Given the description of an element on the screen output the (x, y) to click on. 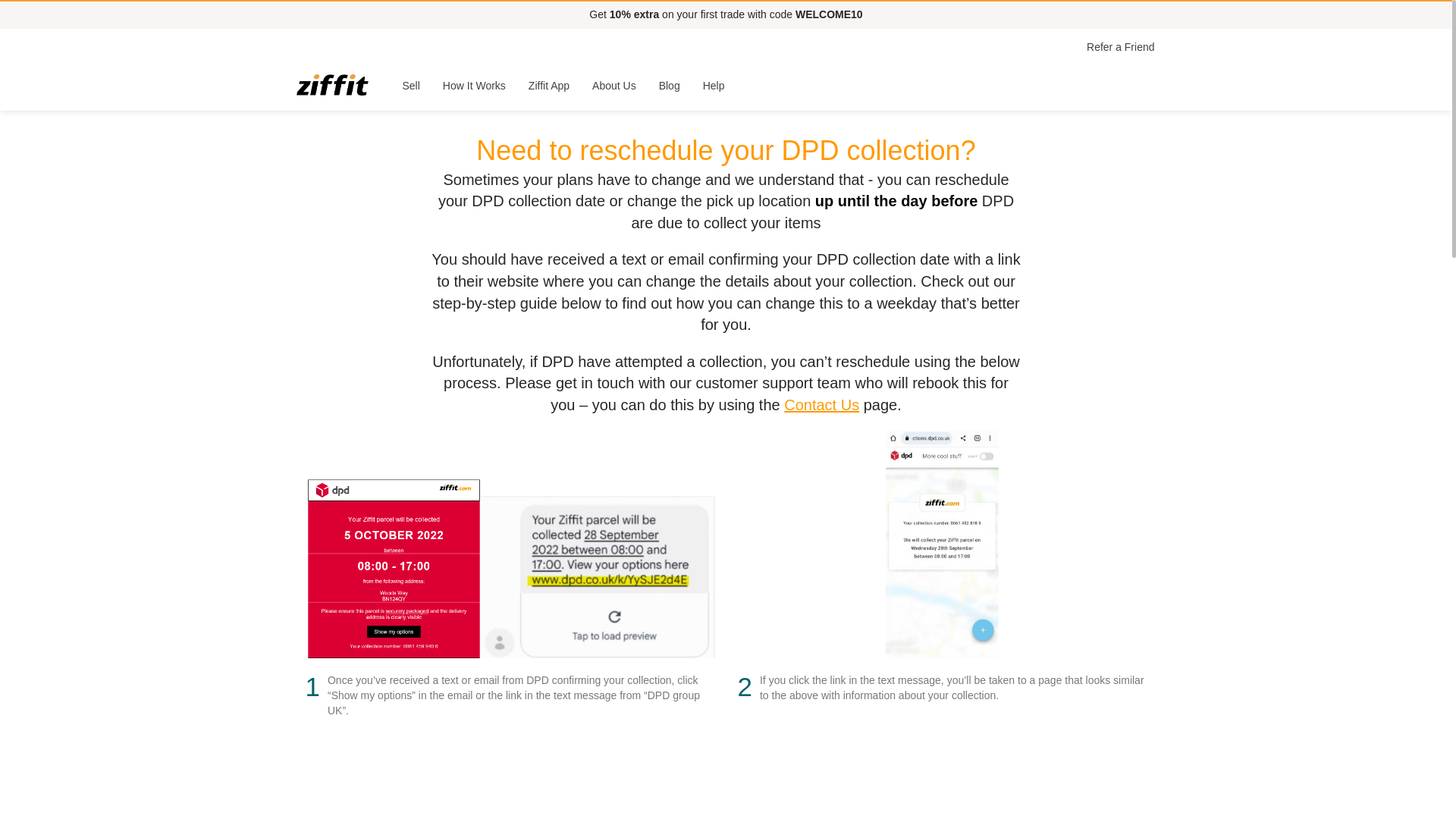
Help (713, 85)
Blog (669, 85)
How It Works (473, 85)
Ziffit App (548, 85)
Contact Us (821, 404)
Refer a Friend (1120, 46)
About Us (613, 85)
